Given the description of an element on the screen output the (x, y) to click on. 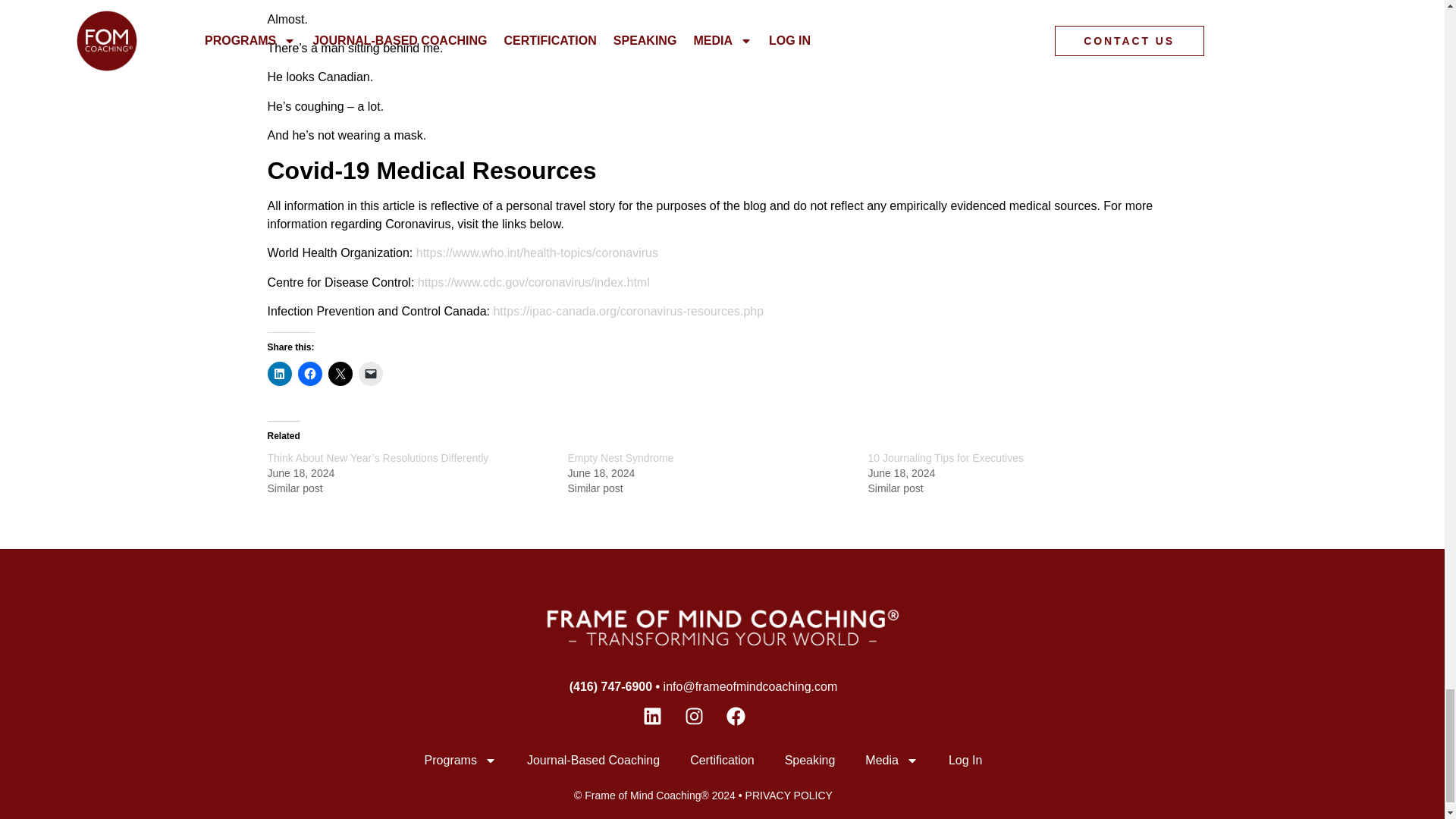
Click to share on Facebook (309, 373)
Click to share on LinkedIn (278, 373)
Click to email a link to a friend (369, 373)
10 Journaling Tips for Executives (945, 458)
Empty Nest Syndrome (619, 458)
Click to share on X (339, 373)
